Given the description of an element on the screen output the (x, y) to click on. 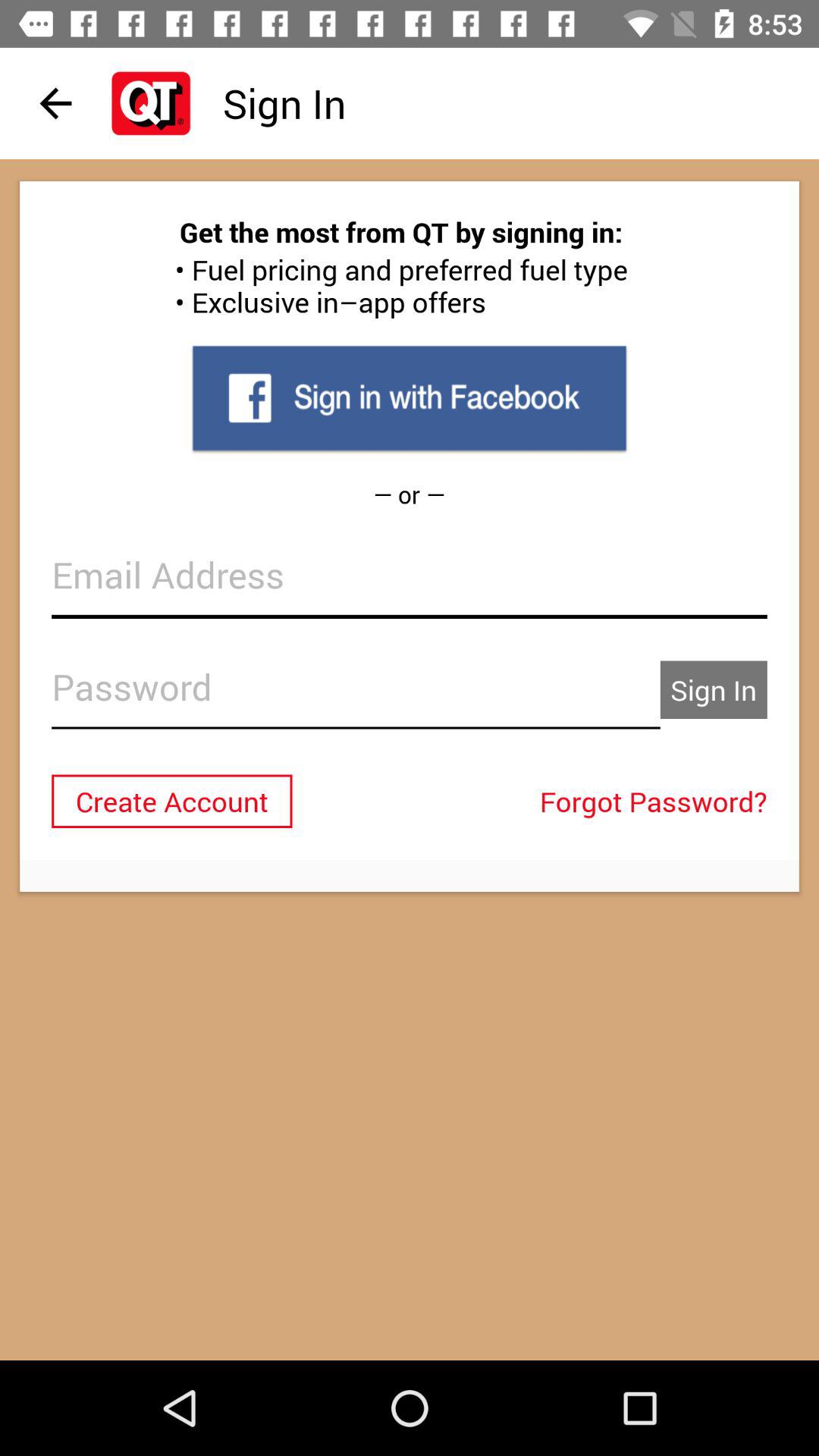
choose icon on the left (171, 801)
